Given the description of an element on the screen output the (x, y) to click on. 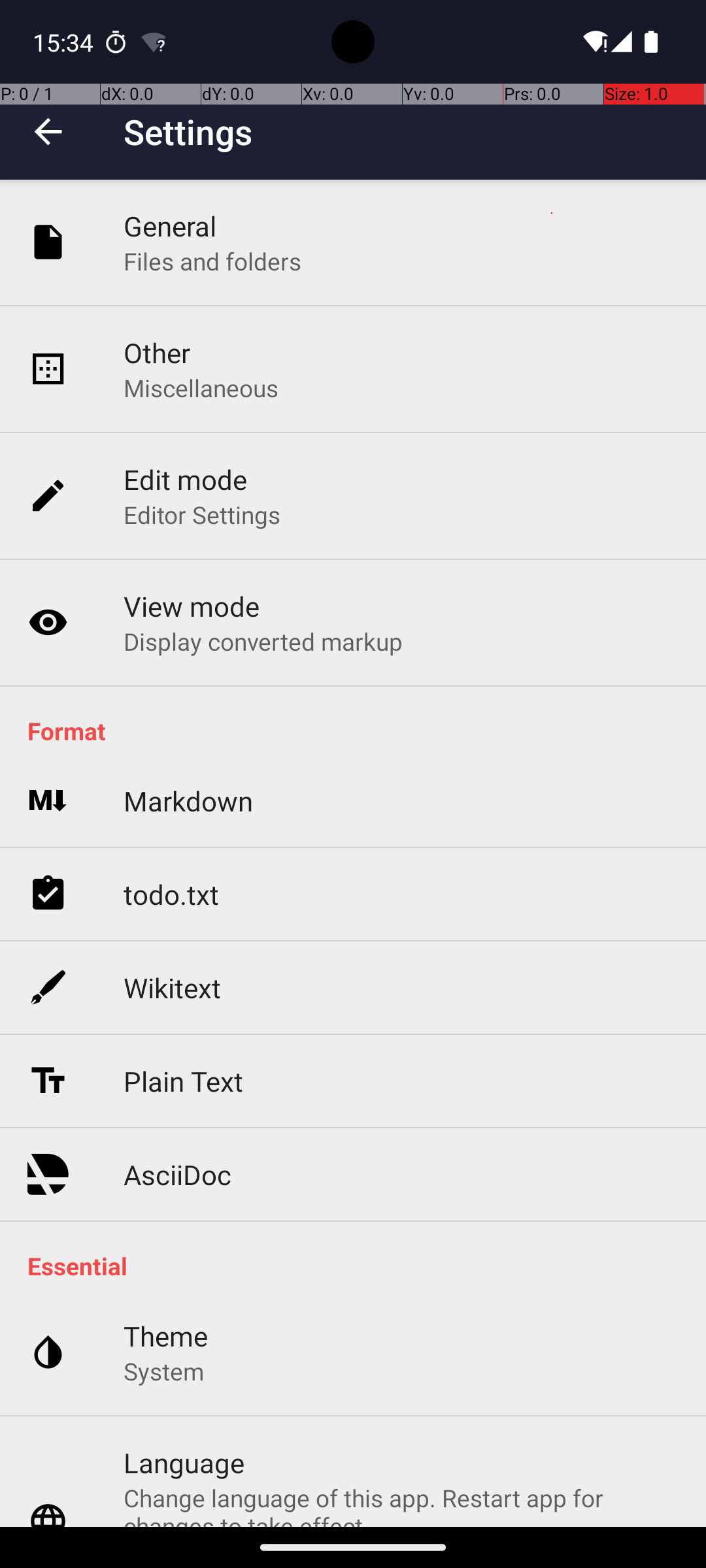
Essential Element type: android.widget.TextView (359, 1265)
Files and folders Element type: android.widget.TextView (212, 260)
Editor Settings Element type: android.widget.TextView (202, 514)
Display converted markup Element type: android.widget.TextView (263, 640)
Change language of this app. Restart app for changes to take effect

English (English, United States) Element type: android.widget.TextView (400, 1503)
